Given the description of an element on the screen output the (x, y) to click on. 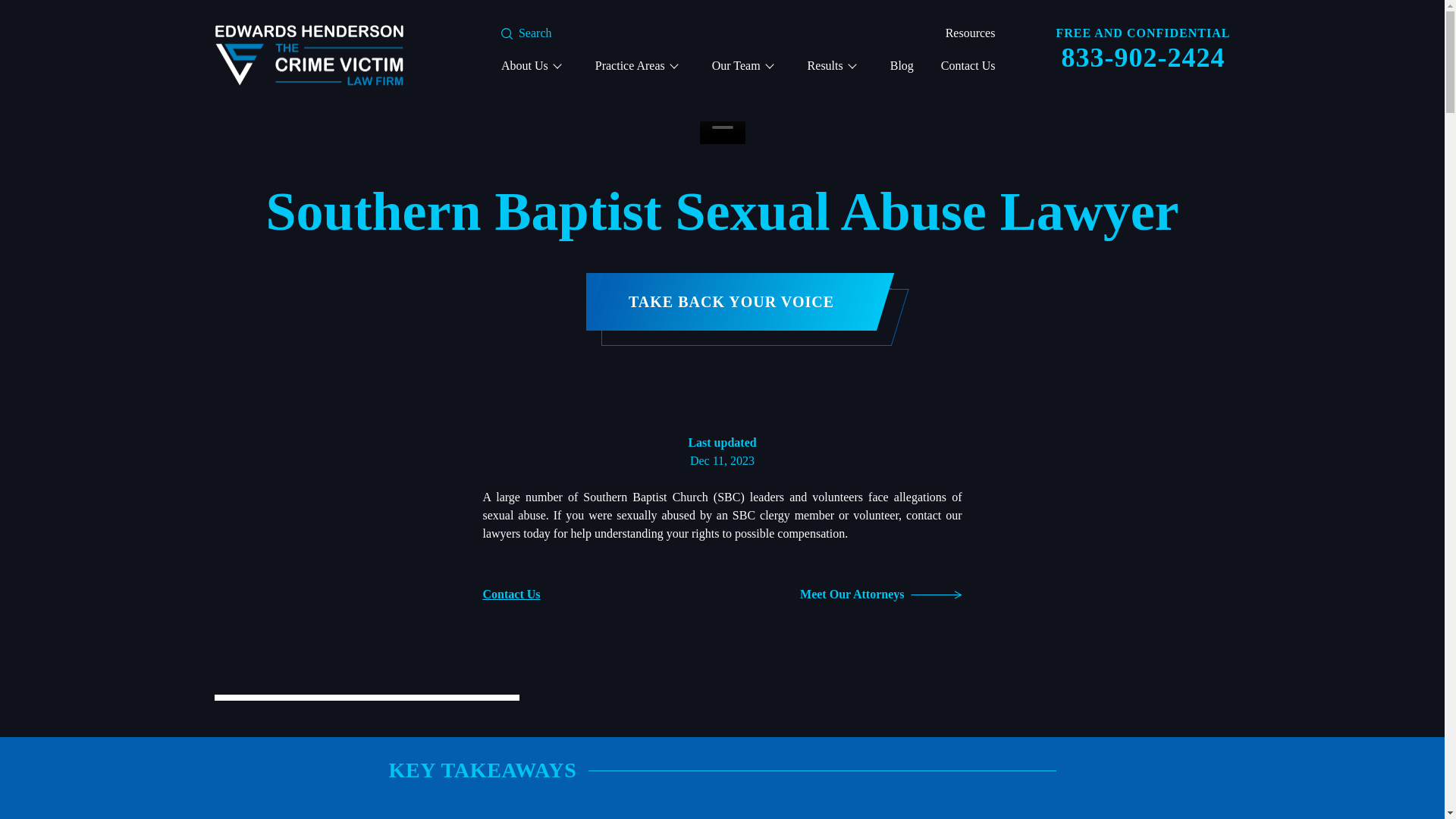
Practice Areas (636, 65)
About Us (530, 65)
Our Team (742, 65)
Resources (969, 32)
